Given the description of an element on the screen output the (x, y) to click on. 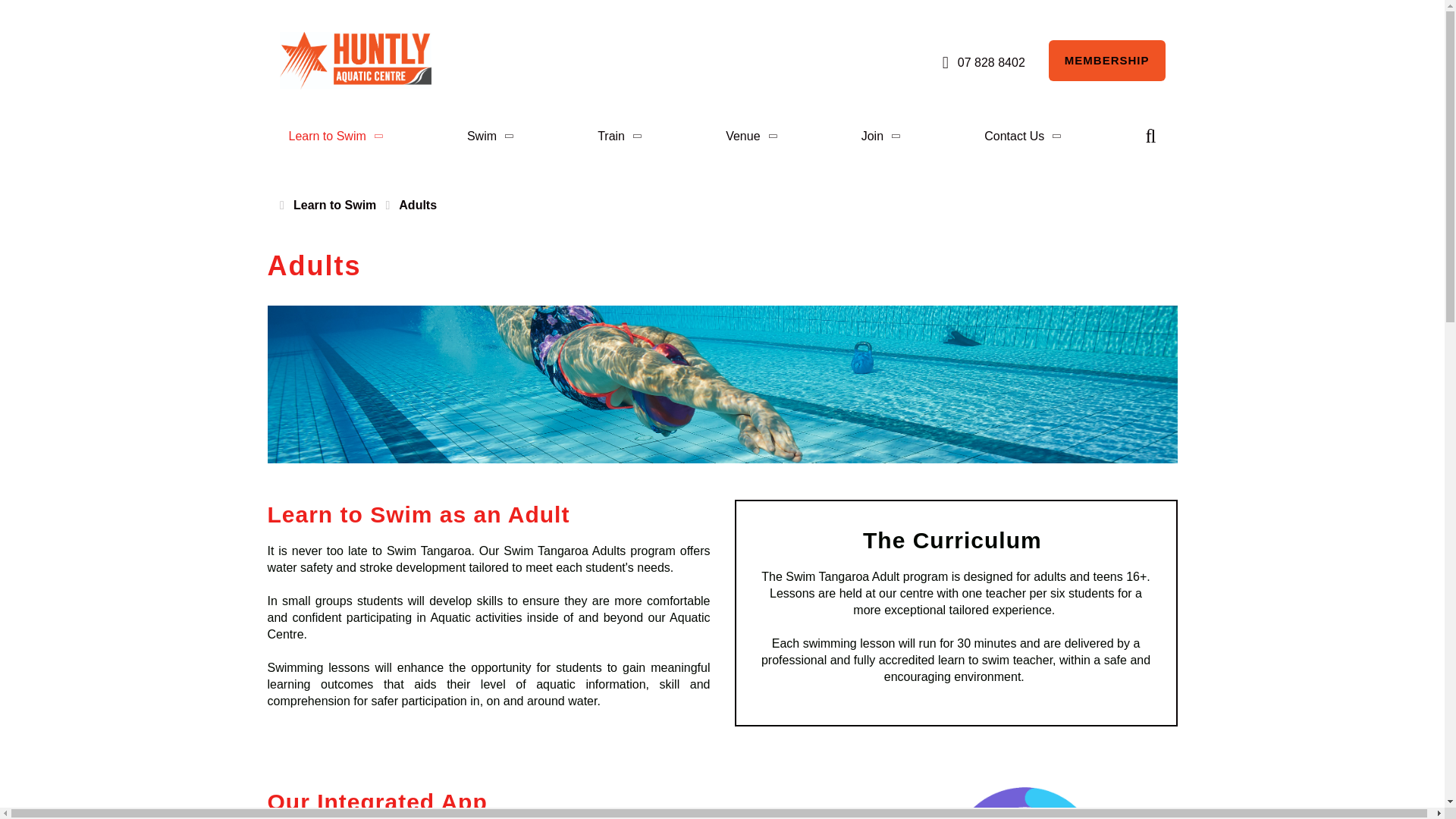
MEMBERSHIP (1107, 60)
07 828 8402 (981, 62)
